Given the description of an element on the screen output the (x, y) to click on. 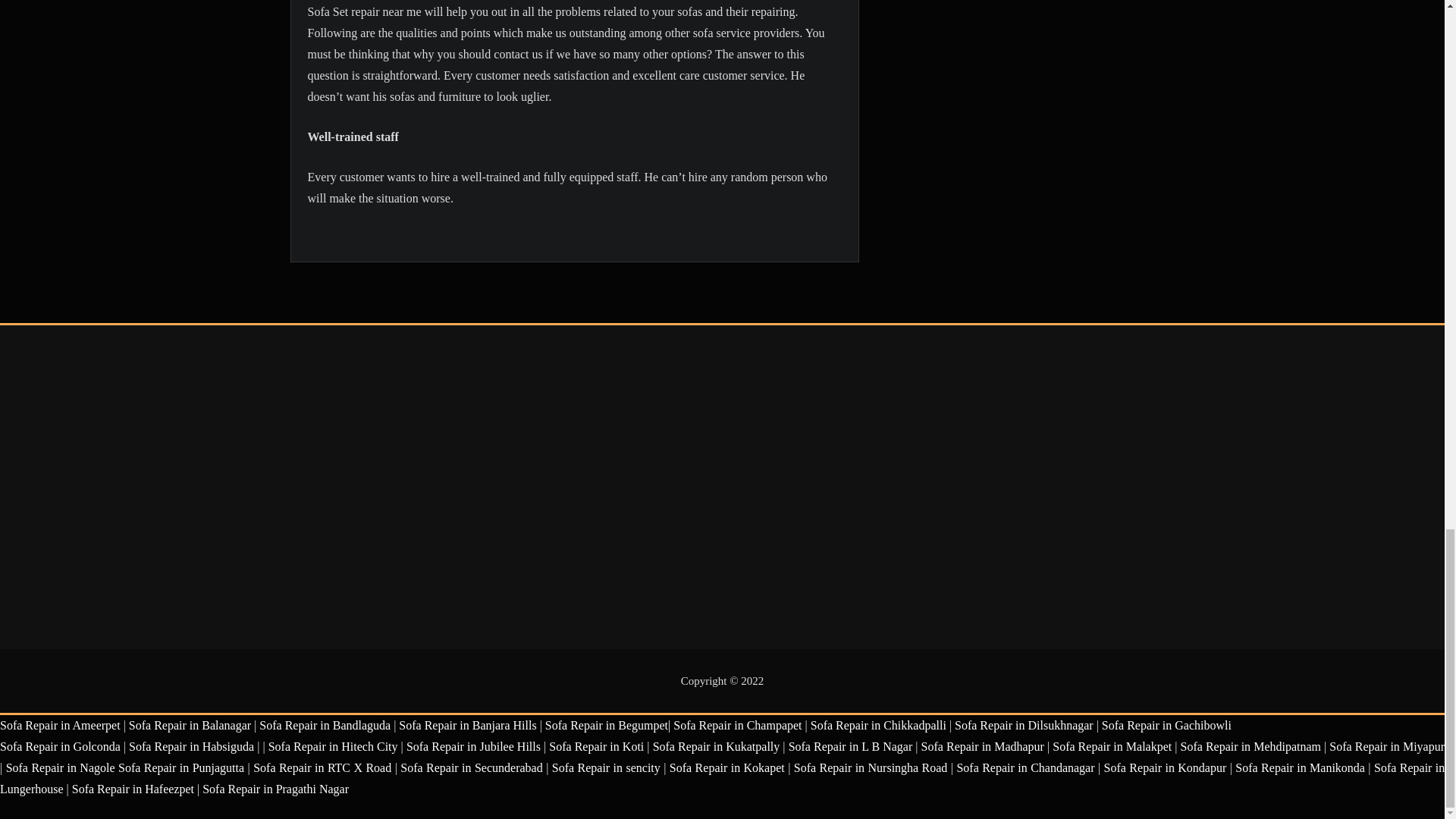
Sofa Repair in Mehdipatnam (1250, 746)
Sofa Repair in Banjara Hills (467, 725)
Sofa Repair in Gachibowli (1166, 725)
Sofa Repair in Champapet (737, 725)
Sofa Repair in Chikkadpalli (878, 725)
Sofa Repair in Madhapur (982, 746)
Sofa Repair in Ameerpet (60, 725)
Sofa Repair in Habsiguda (191, 746)
Sofa Repair in Kukatpally (716, 746)
Sofa Repair in Hitech City (332, 746)
